Given the description of an element on the screen output the (x, y) to click on. 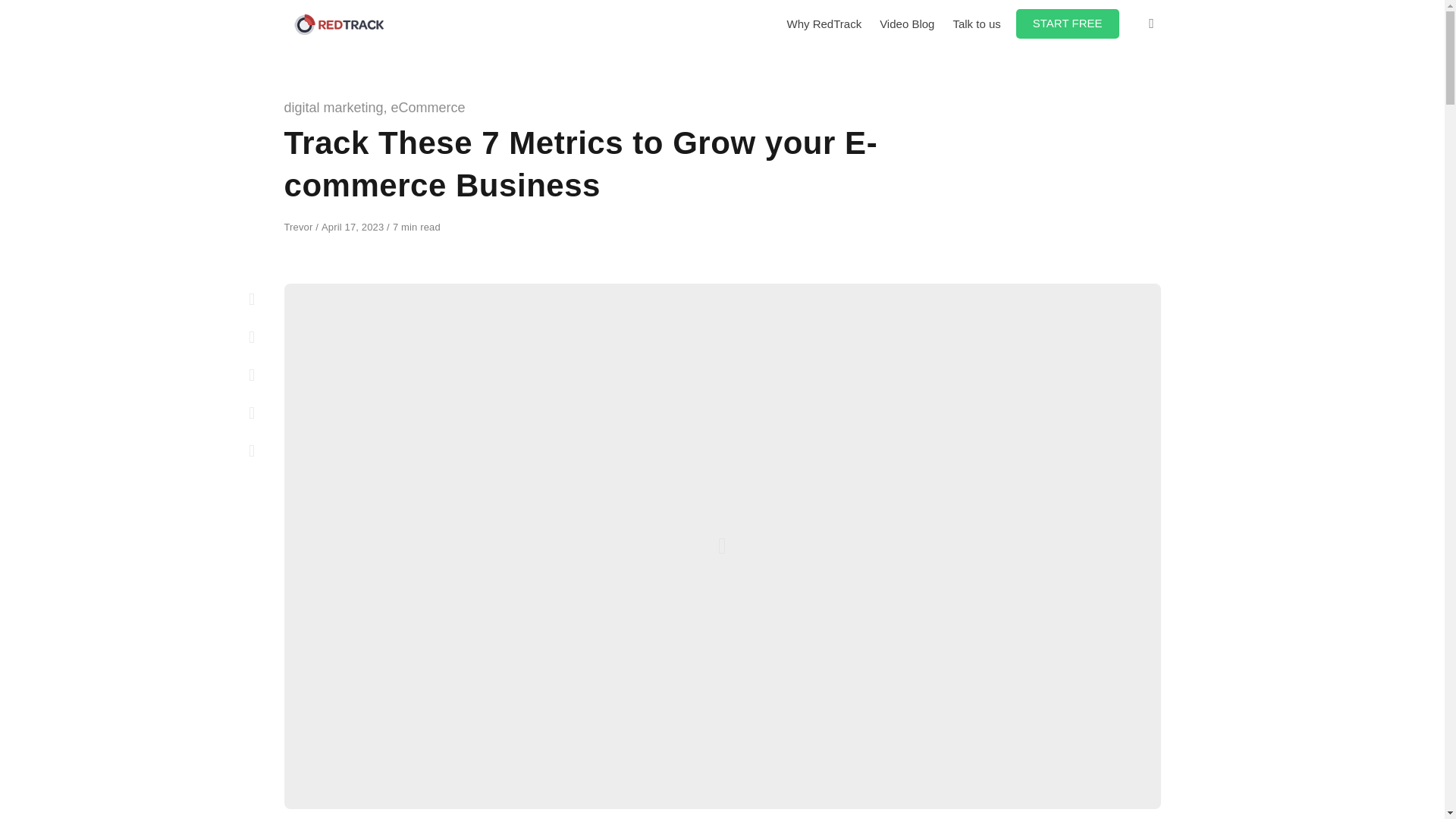
Video Blog (906, 24)
Trevor (299, 226)
Talk to us (976, 24)
START FREE (1067, 23)
April 17, 2023 (354, 226)
eCommerce (428, 107)
April 17, 2023 (354, 226)
digital marketing (332, 107)
Why RedTrack (823, 24)
